Given the description of an element on the screen output the (x, y) to click on. 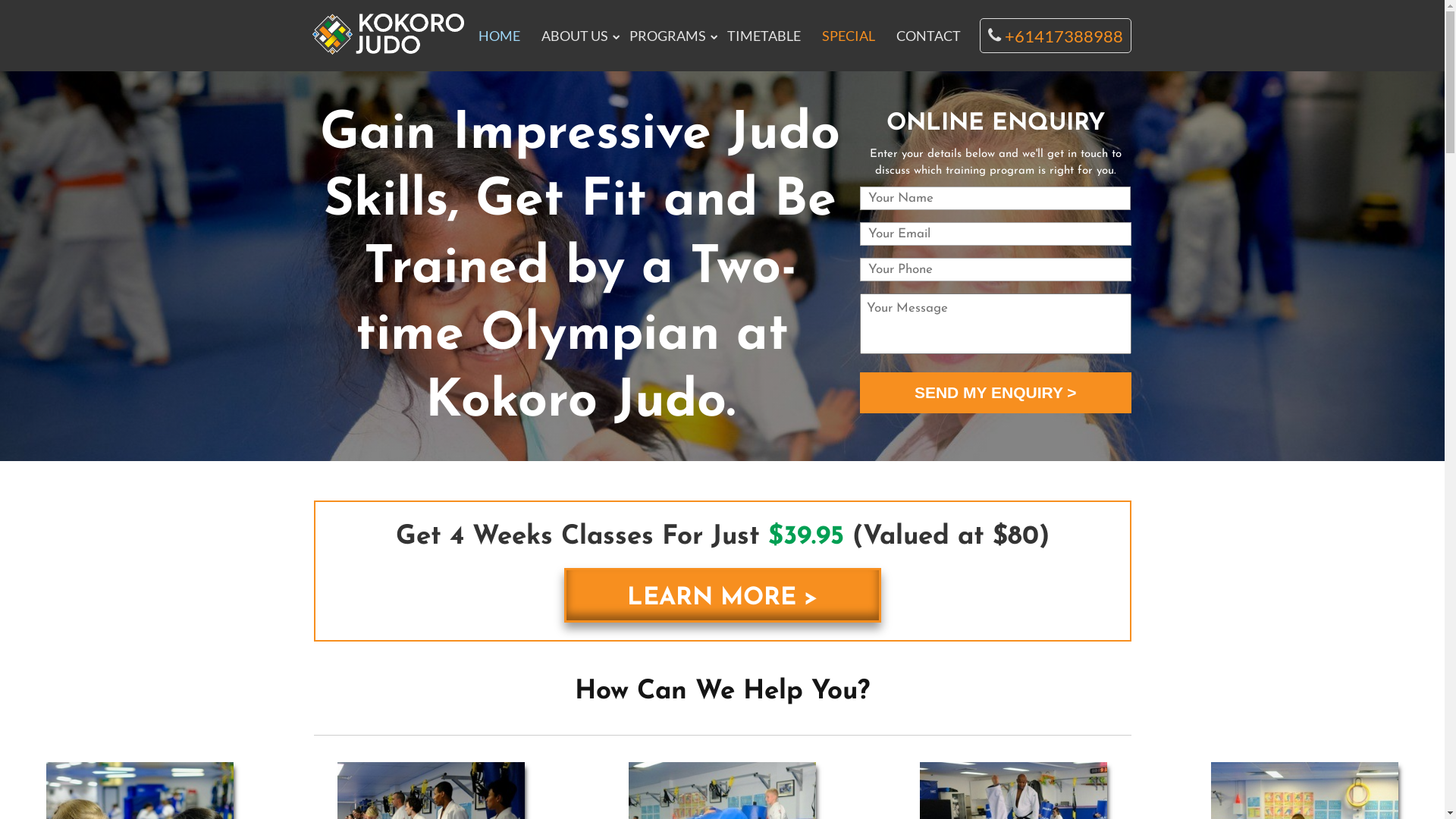
CONTACT Element type: text (928, 35)
PROGRAMS Element type: text (667, 35)
LEARN MORE > Element type: text (722, 594)
TIMETABLE Element type: text (763, 35)
SEND MY ENQUIRY > Element type: text (994, 392)
ABOUT US Element type: text (574, 35)
+61417388988 Element type: text (1055, 35)
SPECIAL Element type: text (848, 35)
HOME Element type: text (499, 35)
